Given the description of an element on the screen output the (x, y) to click on. 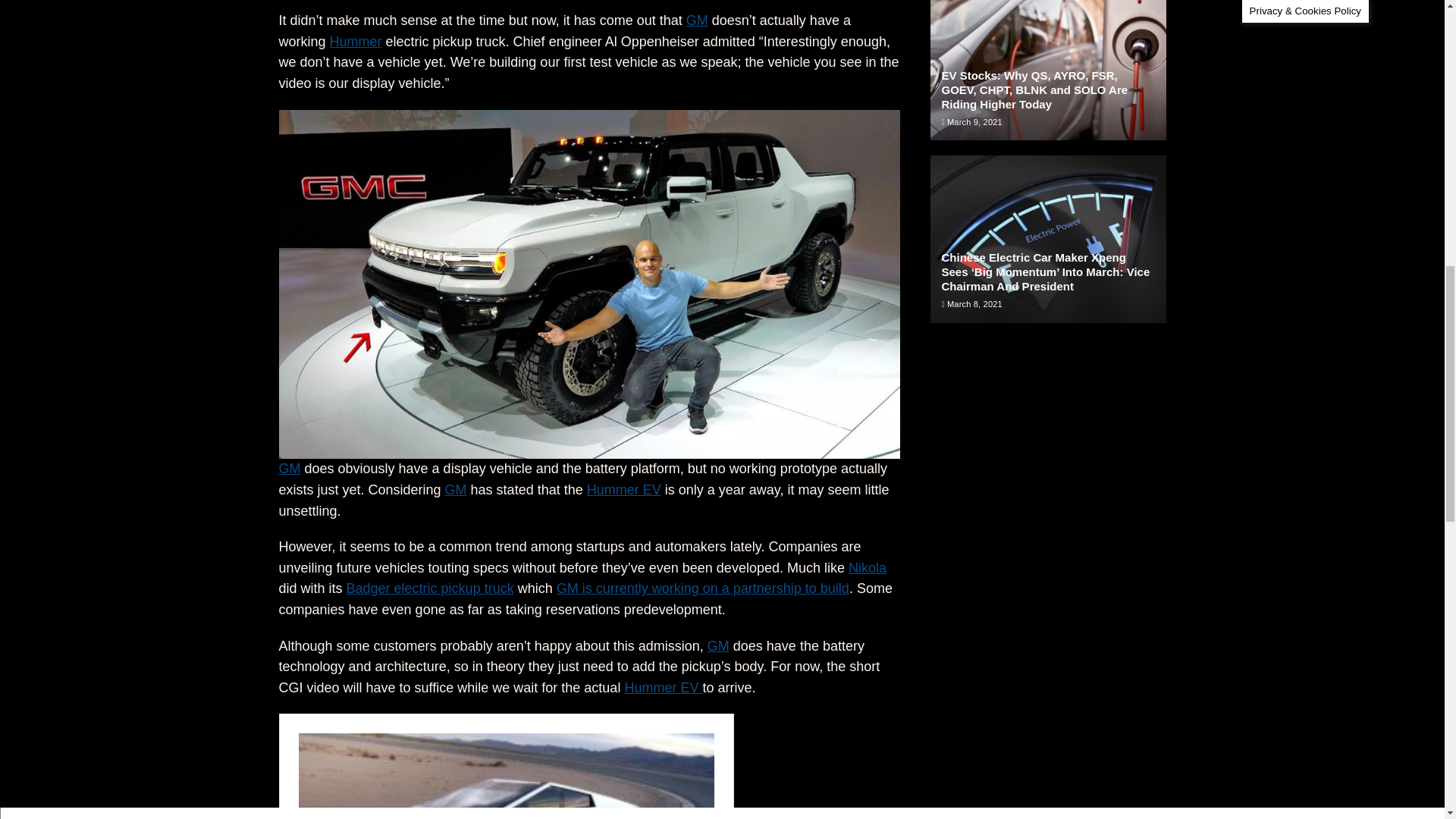
GM (290, 468)
Hummer (355, 41)
Hummer EV (623, 489)
Nikola (867, 567)
GM (696, 20)
GM (456, 489)
